Given the description of an element on the screen output the (x, y) to click on. 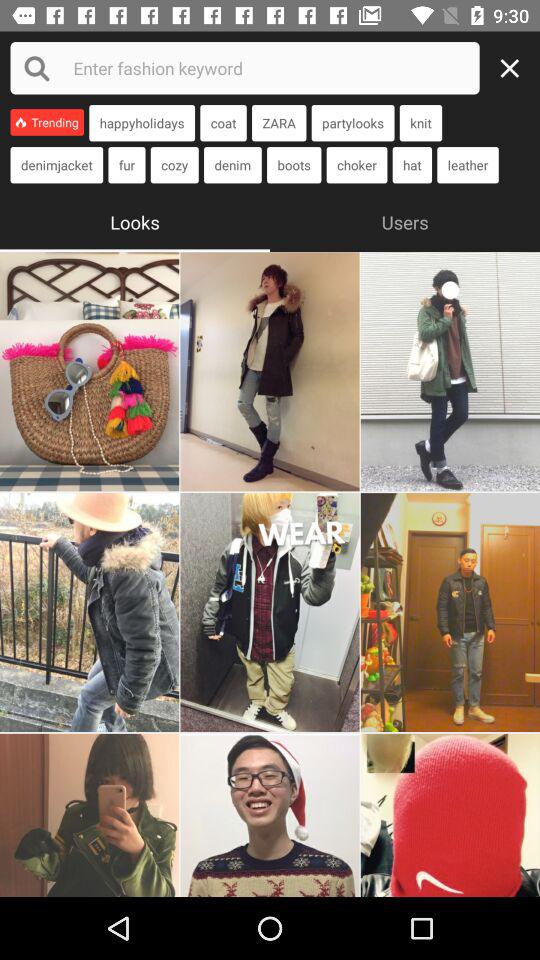
view second photo (269, 371)
